Given the description of an element on the screen output the (x, y) to click on. 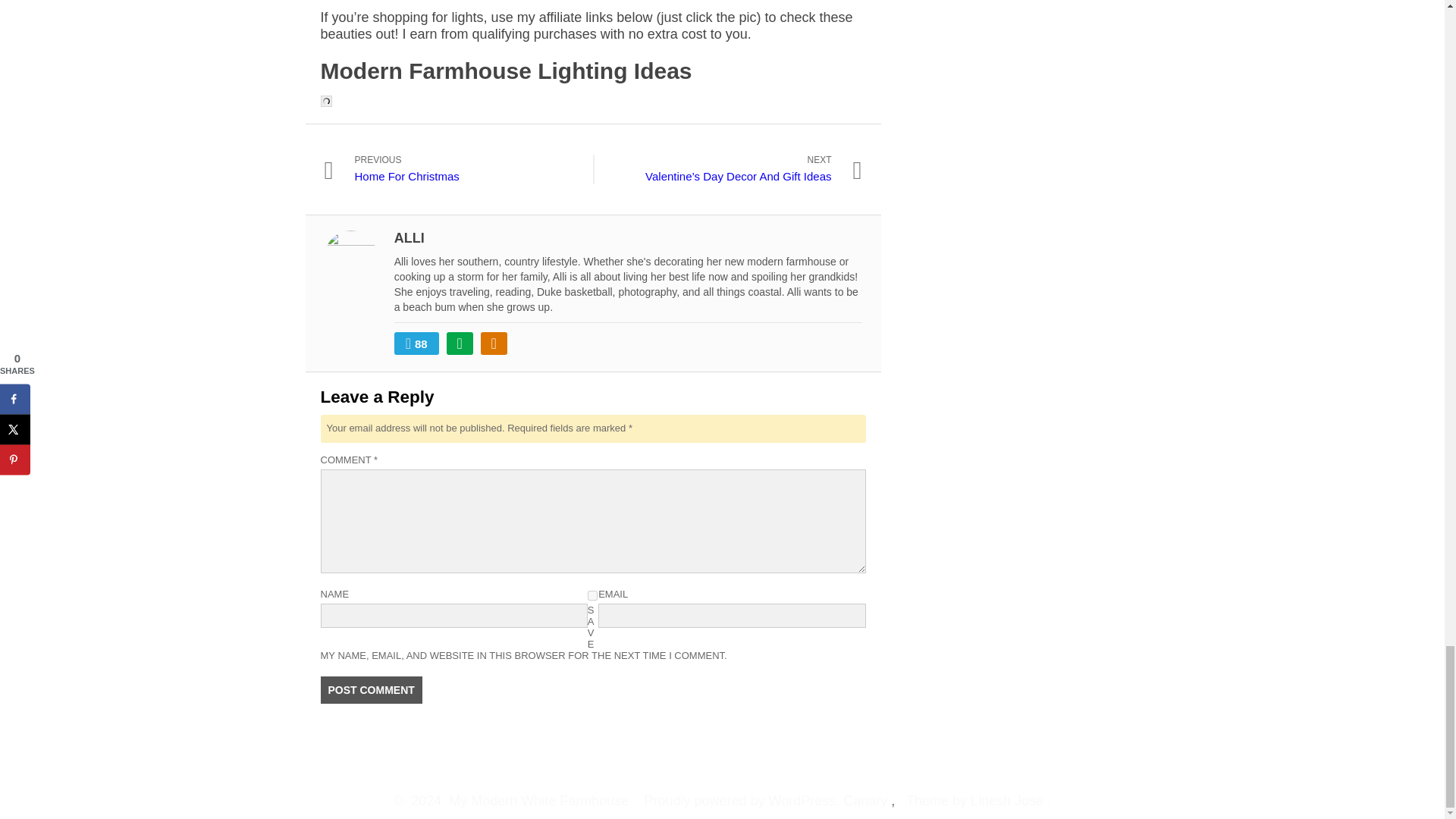
88 (416, 343)
ALLI (468, 169)
Subscribe RSS Feed (409, 237)
Post Comment (493, 343)
Author's Website (371, 689)
yes (459, 343)
Post Comment (592, 595)
88 Posts (371, 689)
Posts by Alli (416, 343)
